Given the description of an element on the screen output the (x, y) to click on. 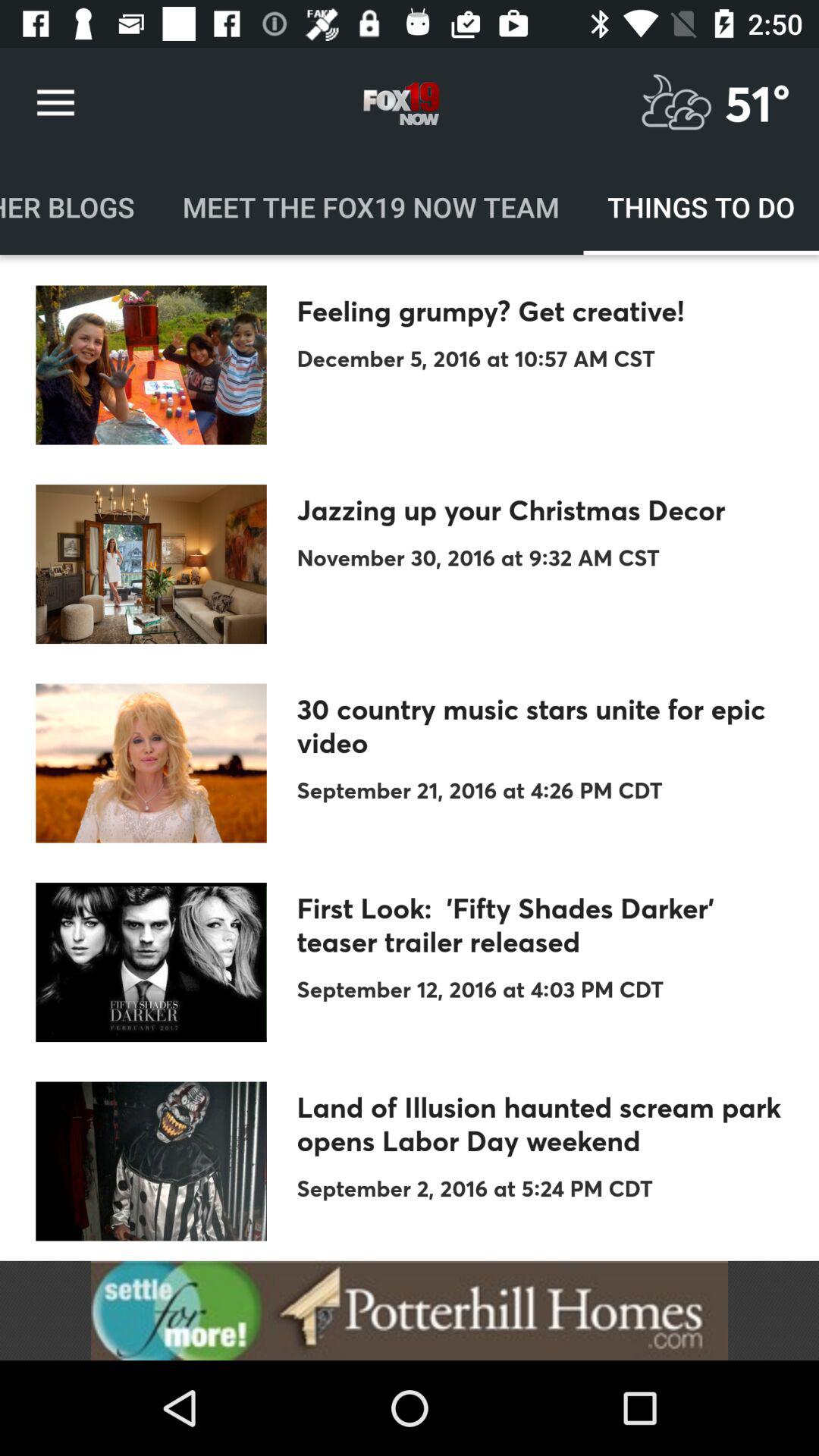
for adverisment (409, 1310)
